Given the description of an element on the screen output the (x, y) to click on. 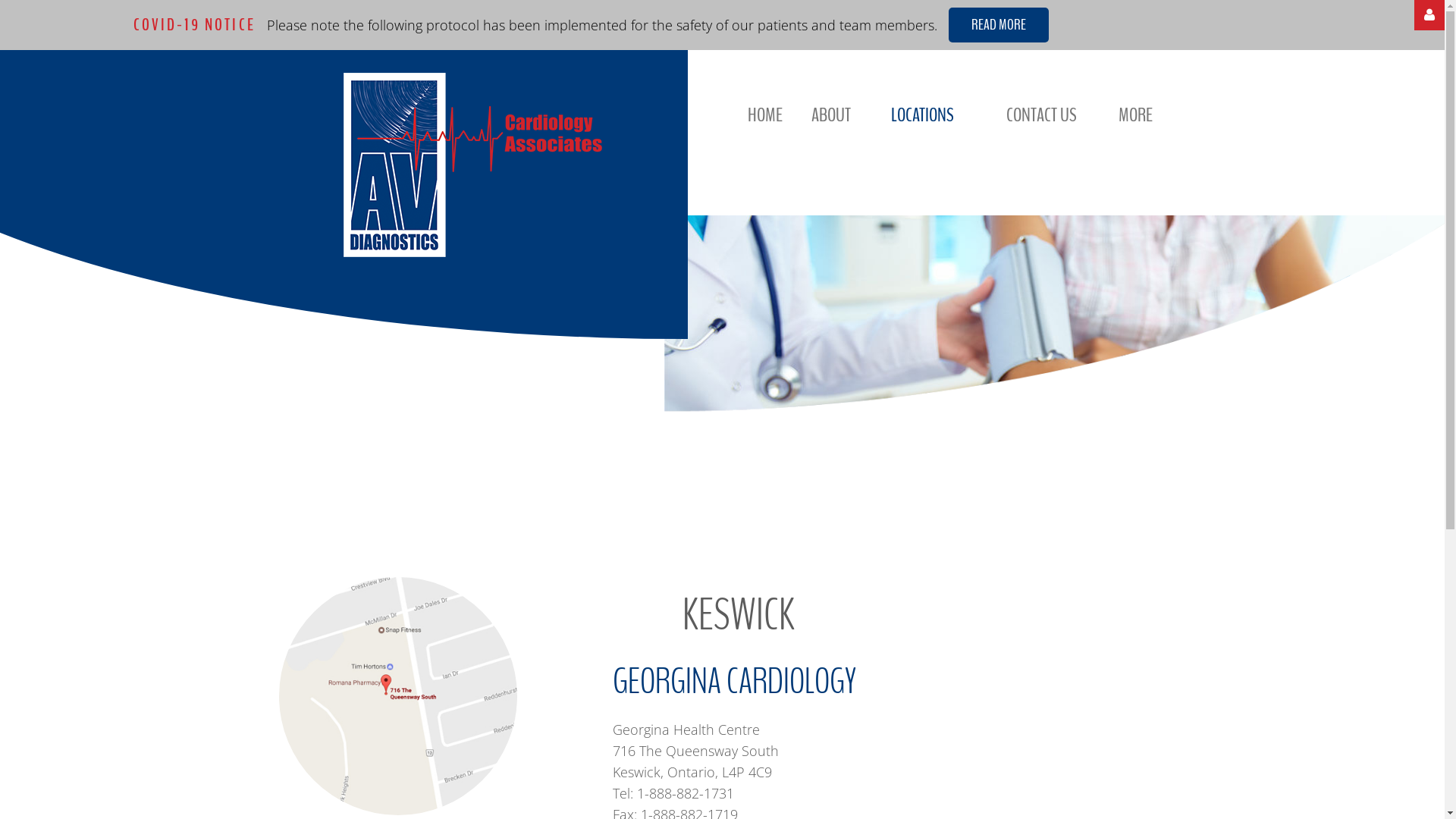
READ MORE Element type: text (998, 24)
HOME Element type: text (764, 114)
ABOUT Element type: text (830, 114)
MORE Element type: text (1135, 114)
CONTACT US Element type: text (1041, 114)
LOCATIONS Element type: text (922, 114)
